Given the description of an element on the screen output the (x, y) to click on. 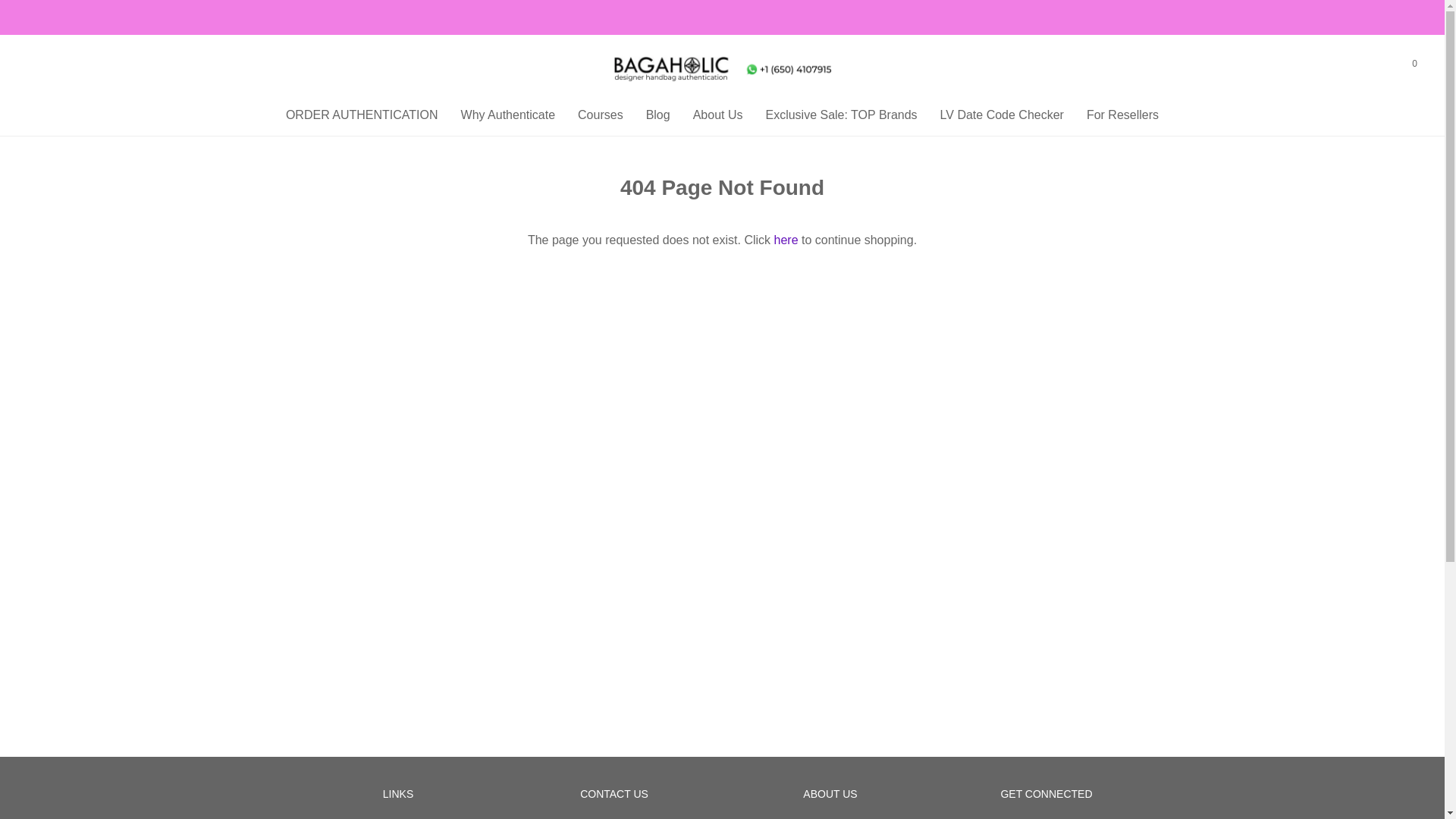
Why Authenticate (508, 115)
ORDER AUTHENTICATION (361, 115)
Cart (1413, 64)
0 (1413, 64)
Courses (600, 115)
